Given the description of an element on the screen output the (x, y) to click on. 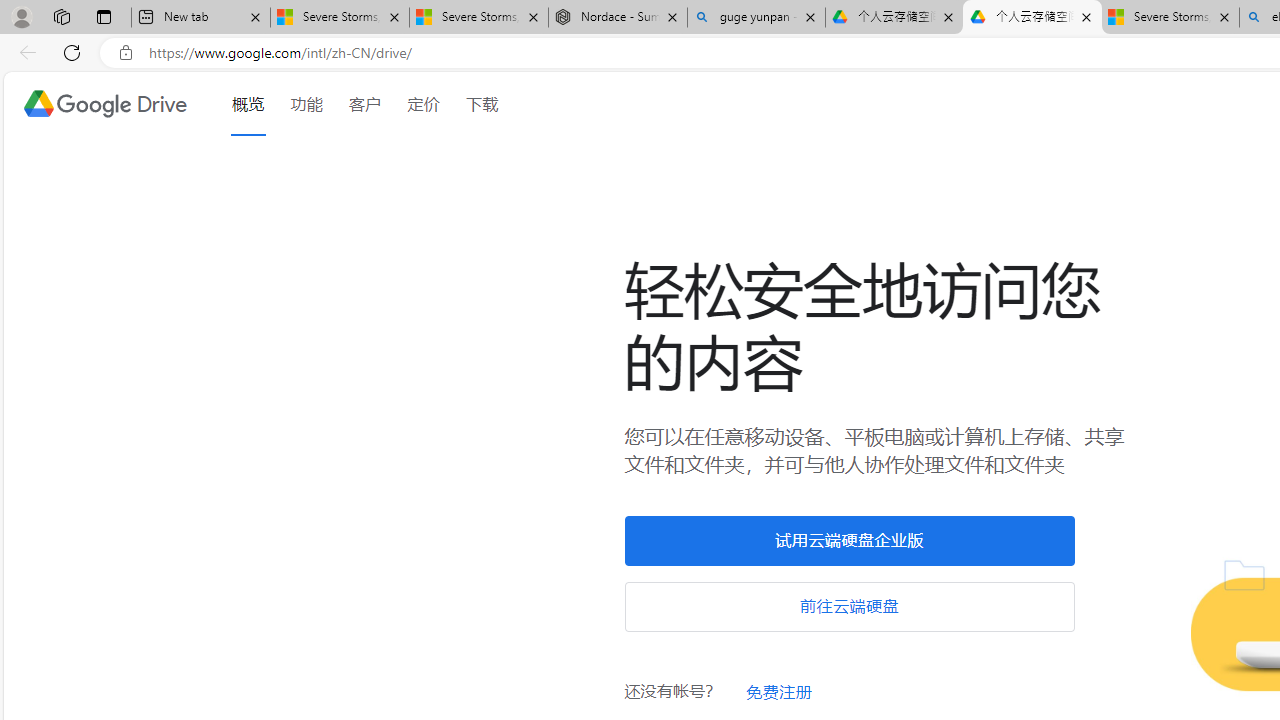
guge yunpan - Search (756, 17)
Google Drive (104, 103)
